Given the description of an element on the screen output the (x, y) to click on. 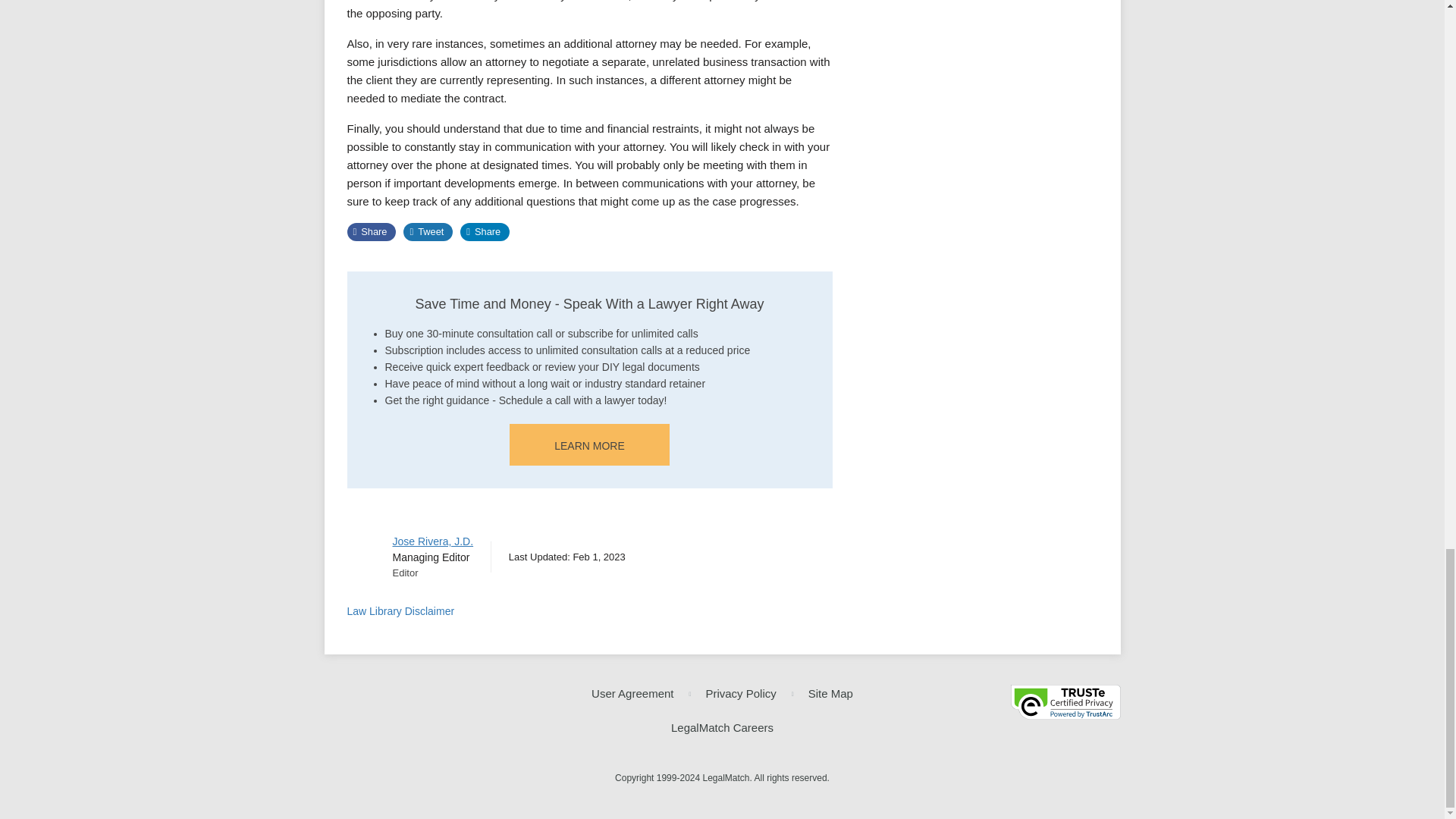
Share LawLib Page On Linkedin (484, 231)
LegalMatch Careers (722, 728)
Share LawLib Page On Twitter (427, 231)
Share LawLib Page On Facebook (371, 231)
